Given the description of an element on the screen output the (x, y) to click on. 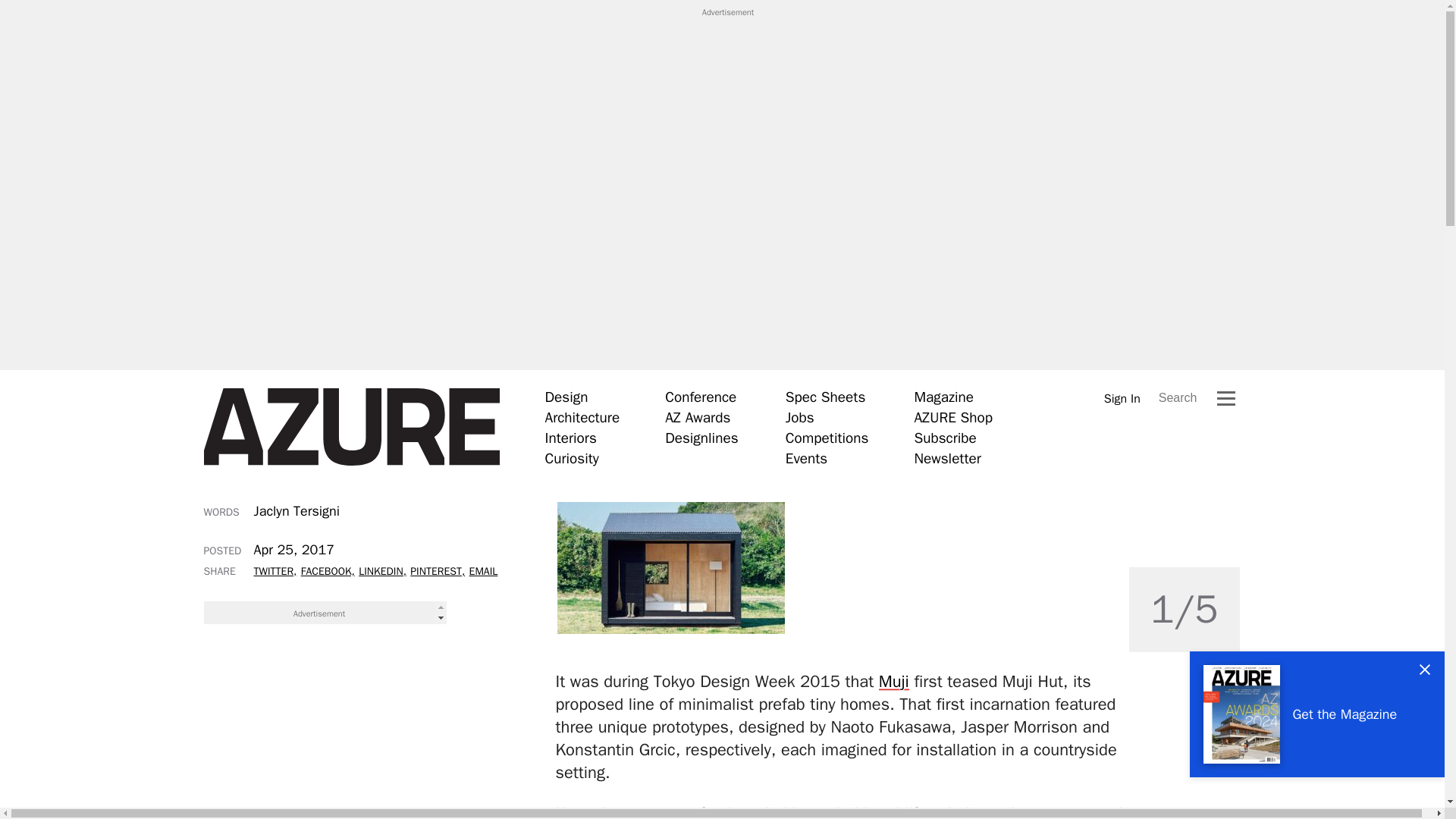
Interiors (569, 438)
Spec Sheets (825, 397)
Designlines (701, 438)
Jobs (799, 417)
AZ Awards (697, 417)
Azure Magazine (351, 426)
AZURE Shop (953, 417)
Newsletter (946, 458)
Sign In (1122, 398)
Search (1178, 397)
